Given the description of an element on the screen output the (x, y) to click on. 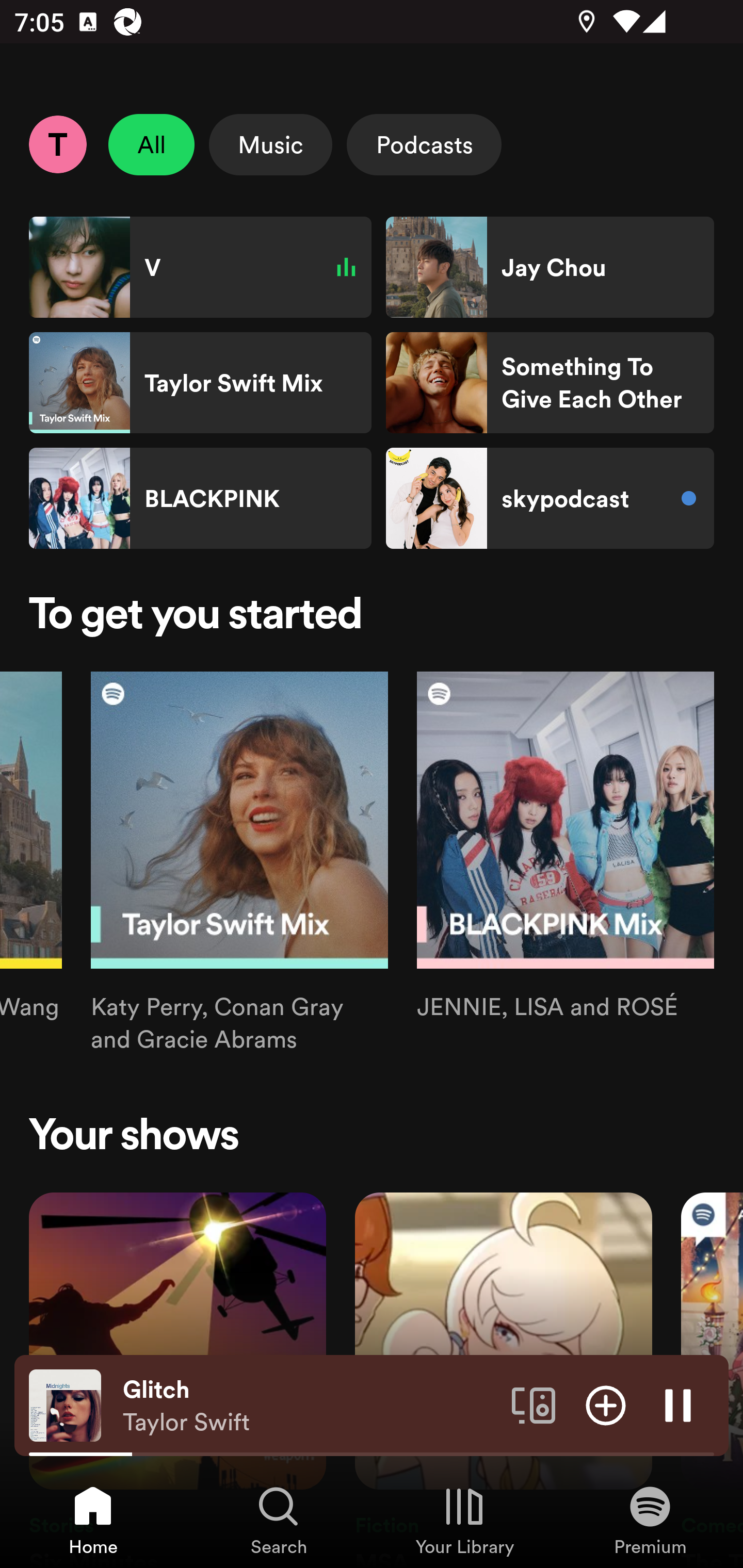
Profile (57, 144)
All Unselect All (151, 144)
Music Select Music (270, 144)
Podcasts Select Podcasts (423, 144)
V Shortcut V Playing (199, 267)
Jay Chou Shortcut Jay Chou (549, 267)
Taylor Swift Mix Shortcut Taylor Swift Mix (199, 382)
BLACKPINK Shortcut BLACKPINK (199, 498)
skypodcast Shortcut skypodcast New content (549, 498)
Glitch Taylor Swift (309, 1405)
The cover art of the currently playing track (64, 1404)
Connect to a device. Opens the devices menu (533, 1404)
Add item (605, 1404)
Pause (677, 1404)
Home, Tab 1 of 4 Home Home (92, 1519)
Search, Tab 2 of 4 Search Search (278, 1519)
Your Library, Tab 3 of 4 Your Library Your Library (464, 1519)
Premium, Tab 4 of 4 Premium Premium (650, 1519)
